Given the description of an element on the screen output the (x, y) to click on. 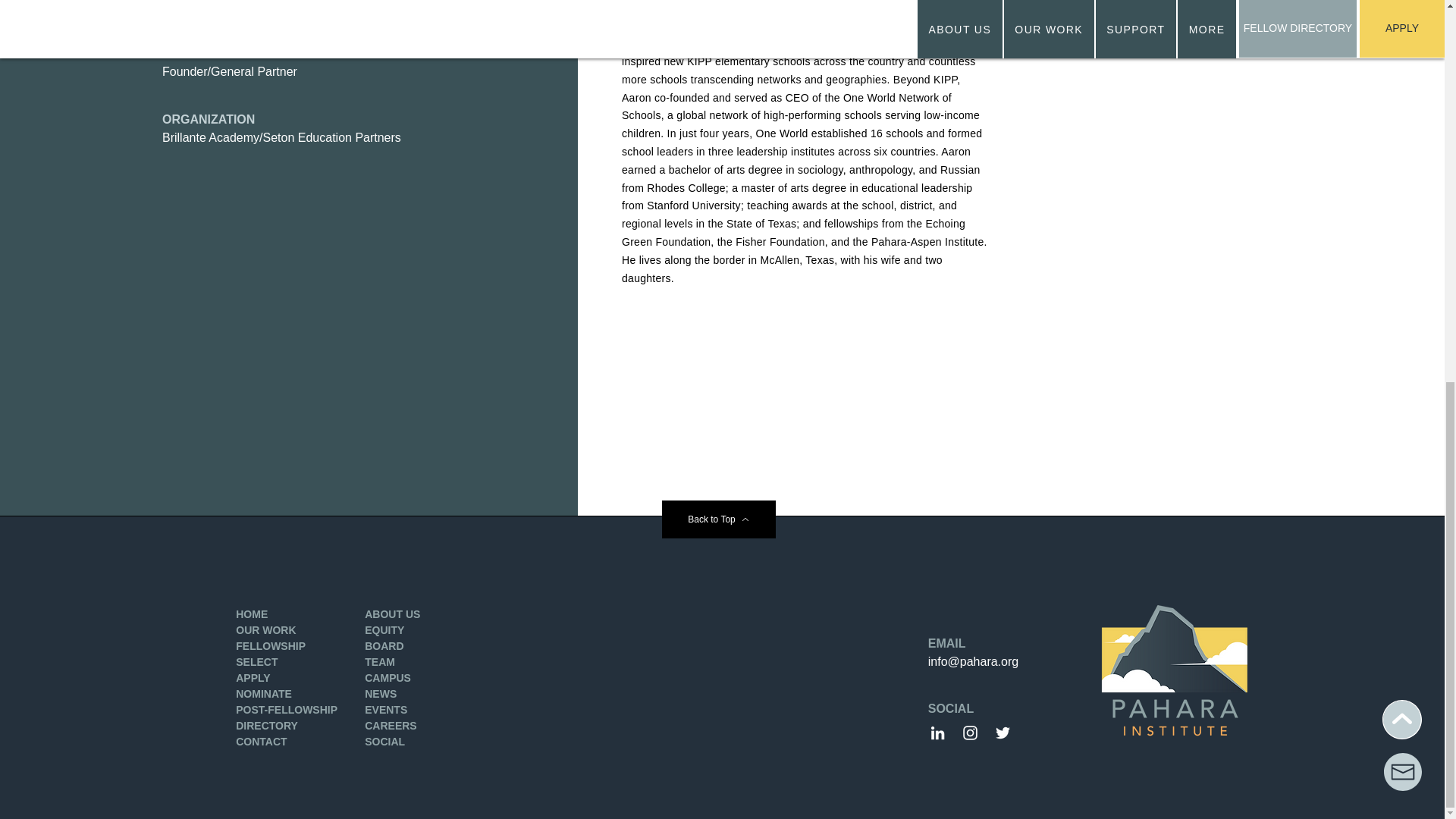
Back to Top (717, 519)
SELECT (256, 662)
CAREERS (390, 725)
NEWS (380, 693)
ABOUT US (392, 613)
FELLOWSHIP (270, 645)
SOCIAL (384, 741)
HOME (251, 613)
EQUITY (384, 630)
POST-FELLOWSHIP (286, 709)
